Given the description of an element on the screen output the (x, y) to click on. 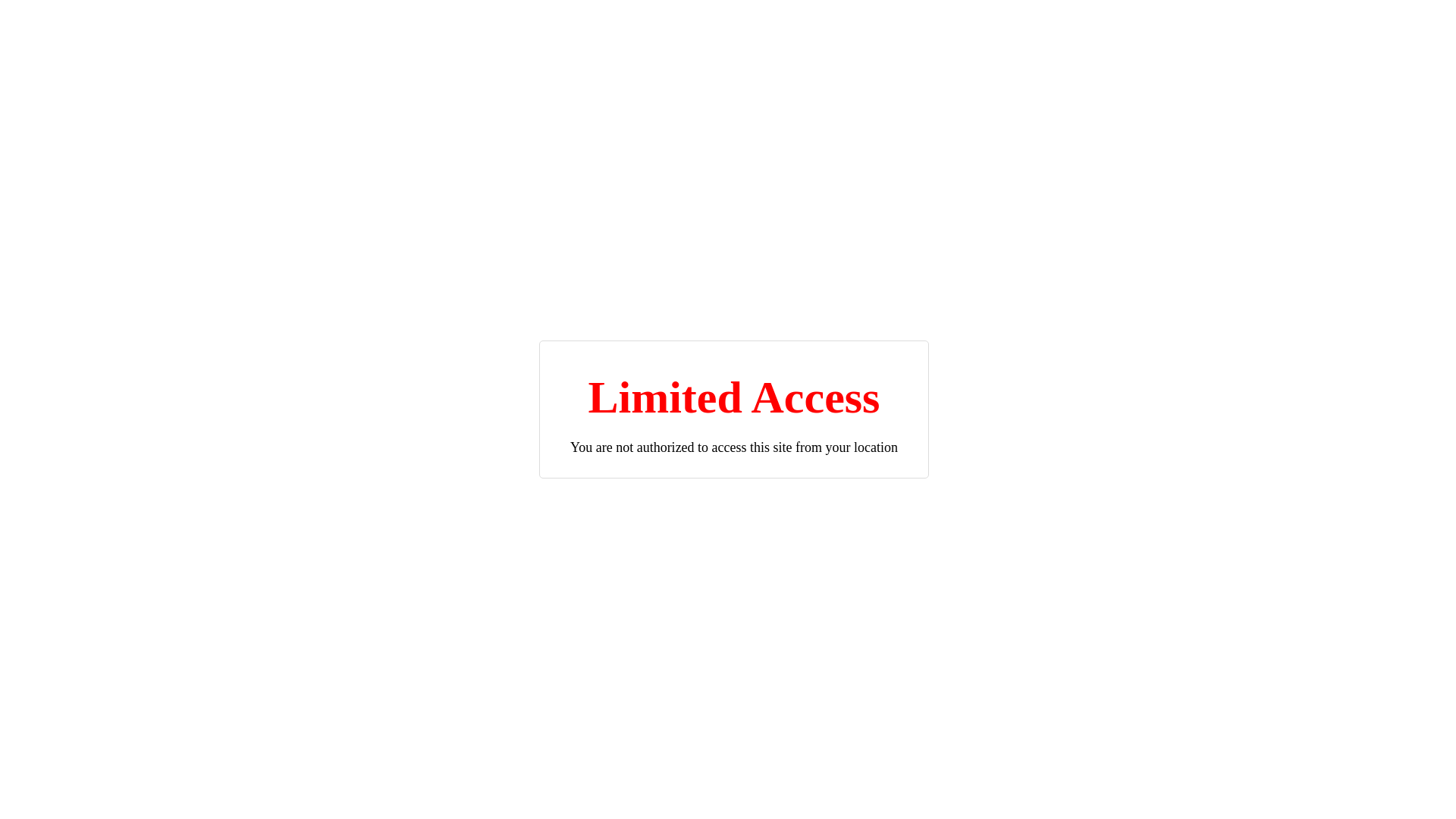
Shopify online store chat Element type: hover (1399, 780)
